Given the description of an element on the screen output the (x, y) to click on. 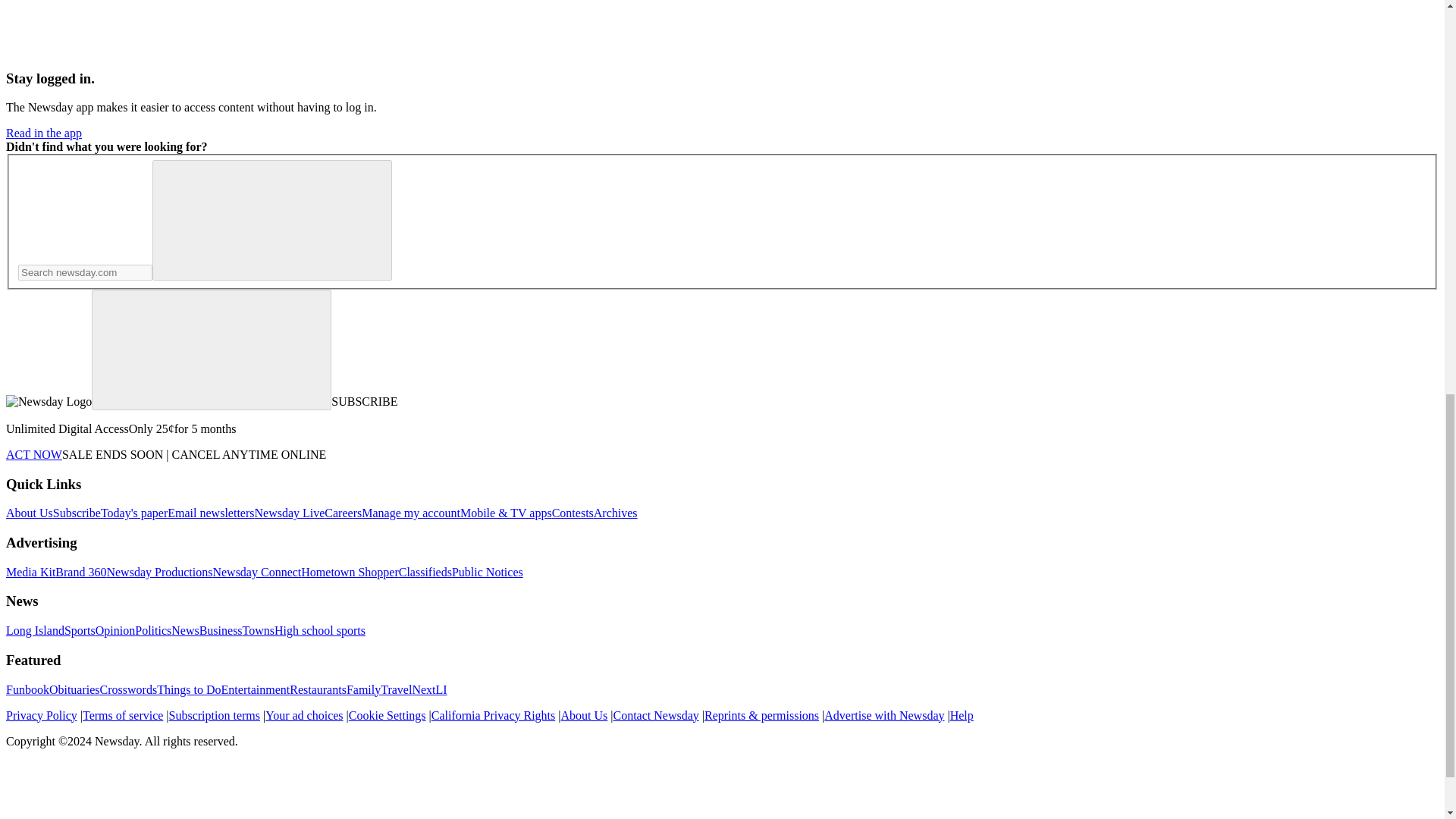
Today's paper (133, 512)
Search (271, 219)
Subscribe (76, 512)
Careers (342, 512)
About Us (28, 512)
Read in the app (43, 132)
Email newsletters (210, 512)
Manage my account (410, 512)
Contests (572, 512)
Newsday Live (288, 512)
Archives (615, 512)
ACT NOW (33, 454)
